Given the description of an element on the screen output the (x, y) to click on. 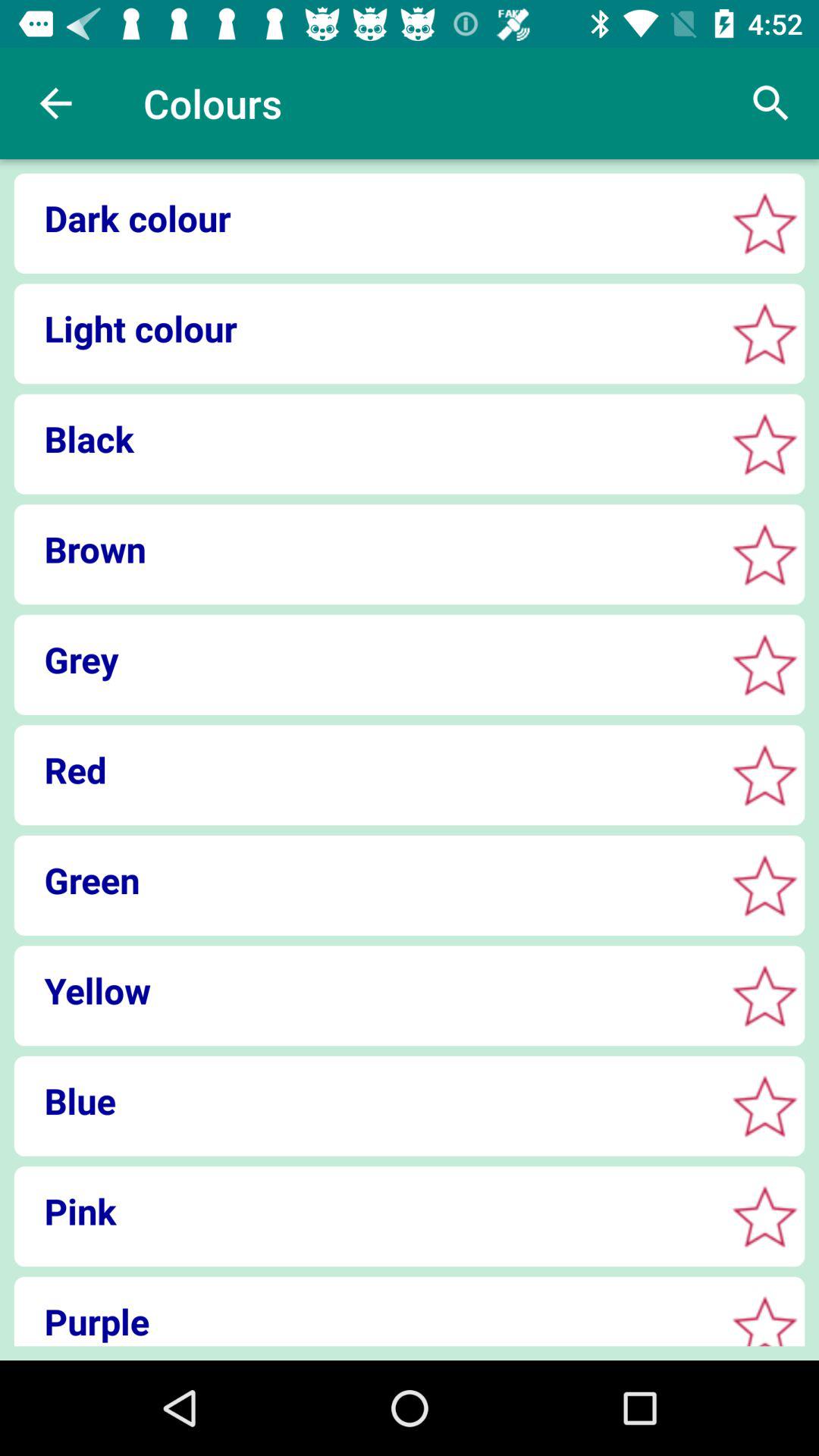
review star button (764, 775)
